Given the description of an element on the screen output the (x, y) to click on. 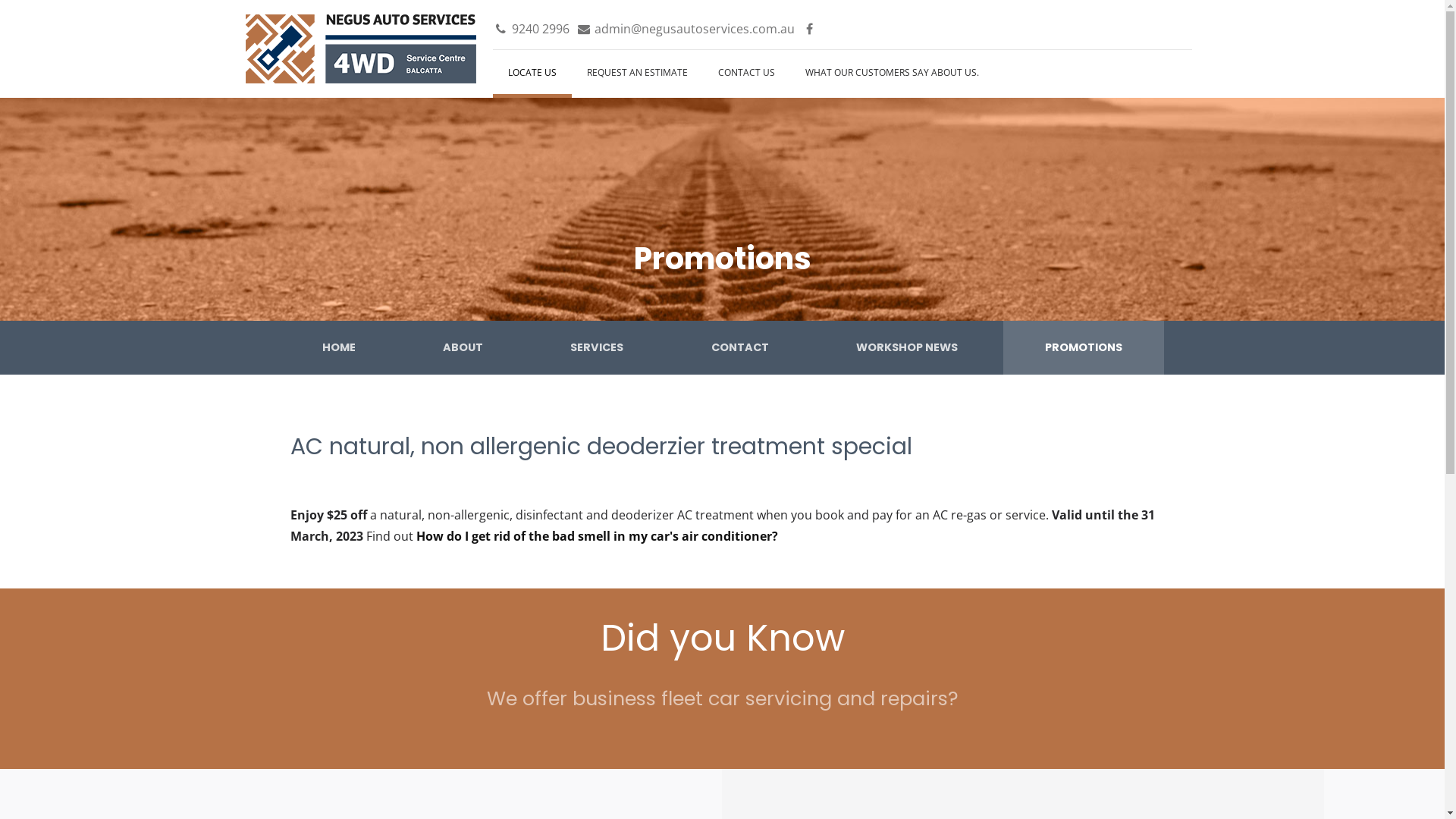
WORKSHOP NEWS Element type: text (906, 347)
HOME Element type: text (338, 347)
CONTACT Element type: text (739, 347)
admin@negusautoservices.com.au Element type: text (685, 28)
9240 2996 Element type: text (530, 28)
CONTACT US Element type: text (746, 73)
REQUEST AN ESTIMATE Element type: text (636, 73)
Facebook Element type: hover (809, 28)
LOCATE US Element type: text (531, 73)
WHAT OUR CUSTOMERS SAY ABOUT US. Element type: text (892, 73)
